Given the description of an element on the screen output the (x, y) to click on. 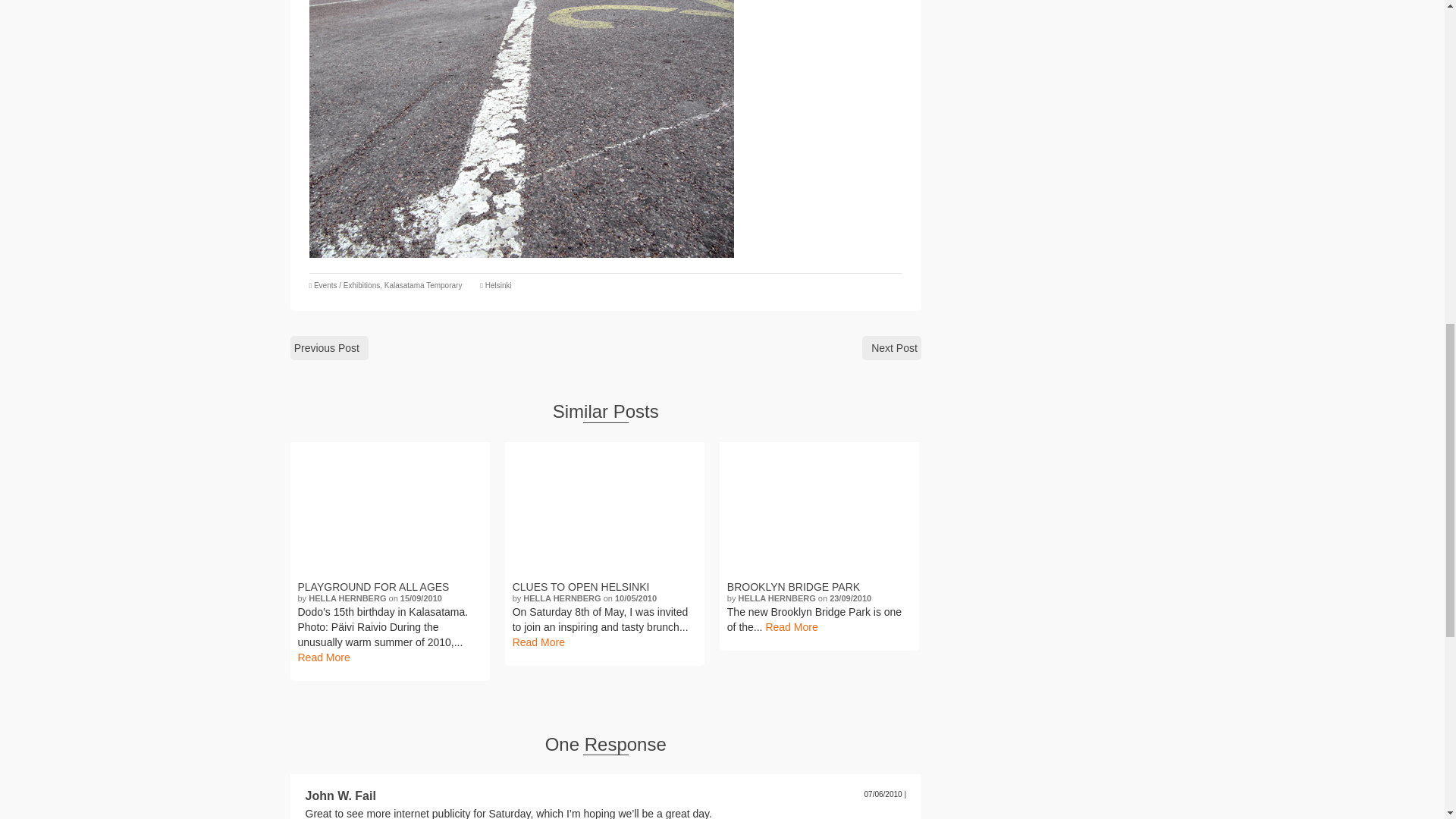
HELLA HERNBERG (560, 597)
Read More (323, 657)
CLUES TO OPEN HELSINKI (604, 508)
Helsinki (498, 284)
PLAYGROUND FOR ALL AGES (389, 508)
BROOKLYN BRIDGE PARK (818, 508)
HELLA HERNBERG (346, 597)
PLAYGROUND FOR ALL AGES (389, 586)
Previous Post (328, 347)
CLUES TO OPEN HELSINKI (604, 586)
Next Post (891, 347)
Kalasatama Temporary (423, 284)
